Given the description of an element on the screen output the (x, y) to click on. 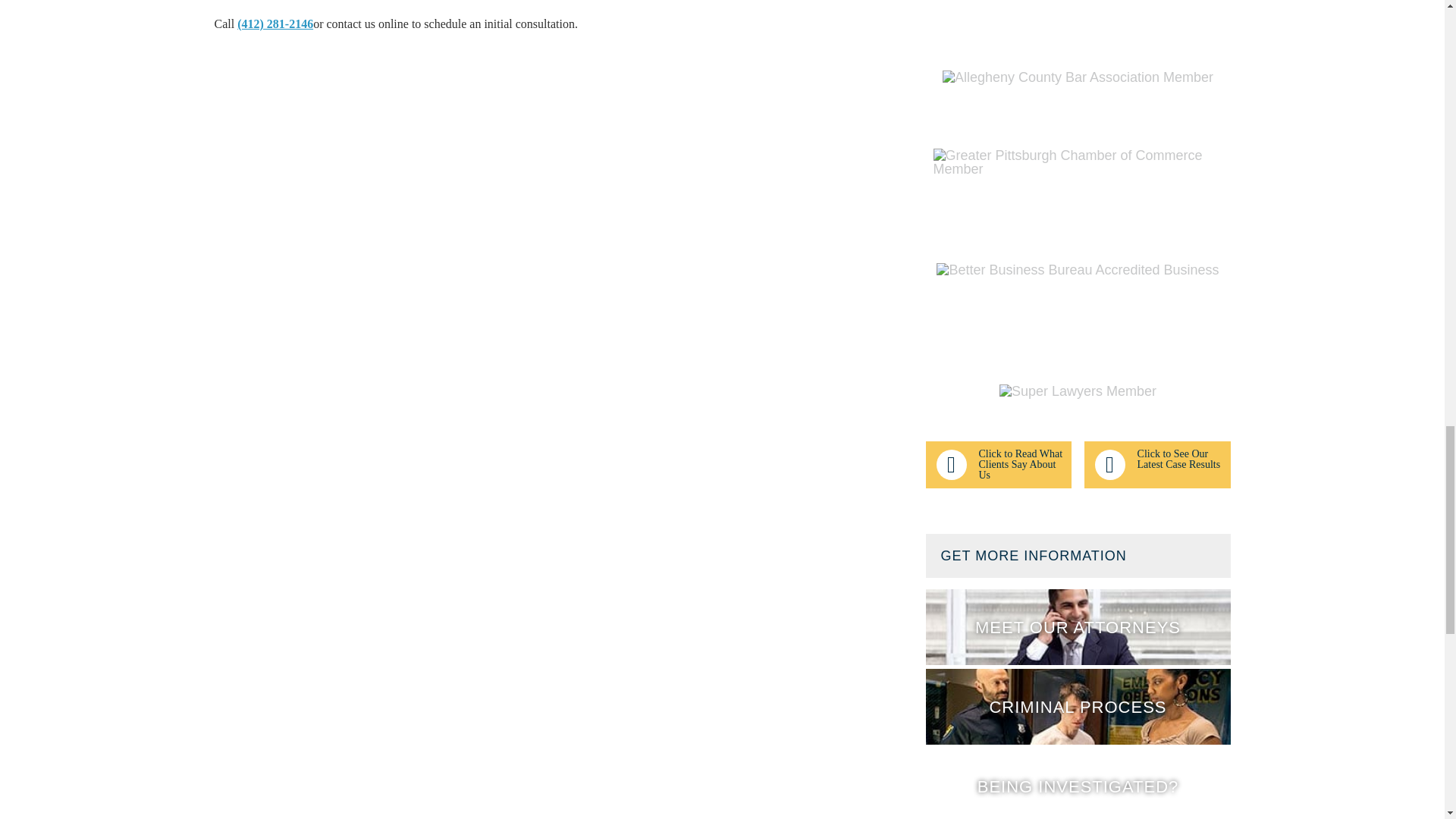
Being Investigated? (1077, 783)
Call Worgul, Sarna and Ness Today (275, 23)
Criminal Process (1077, 706)
Meet our Attorneys (1077, 626)
